Given the description of an element on the screen output the (x, y) to click on. 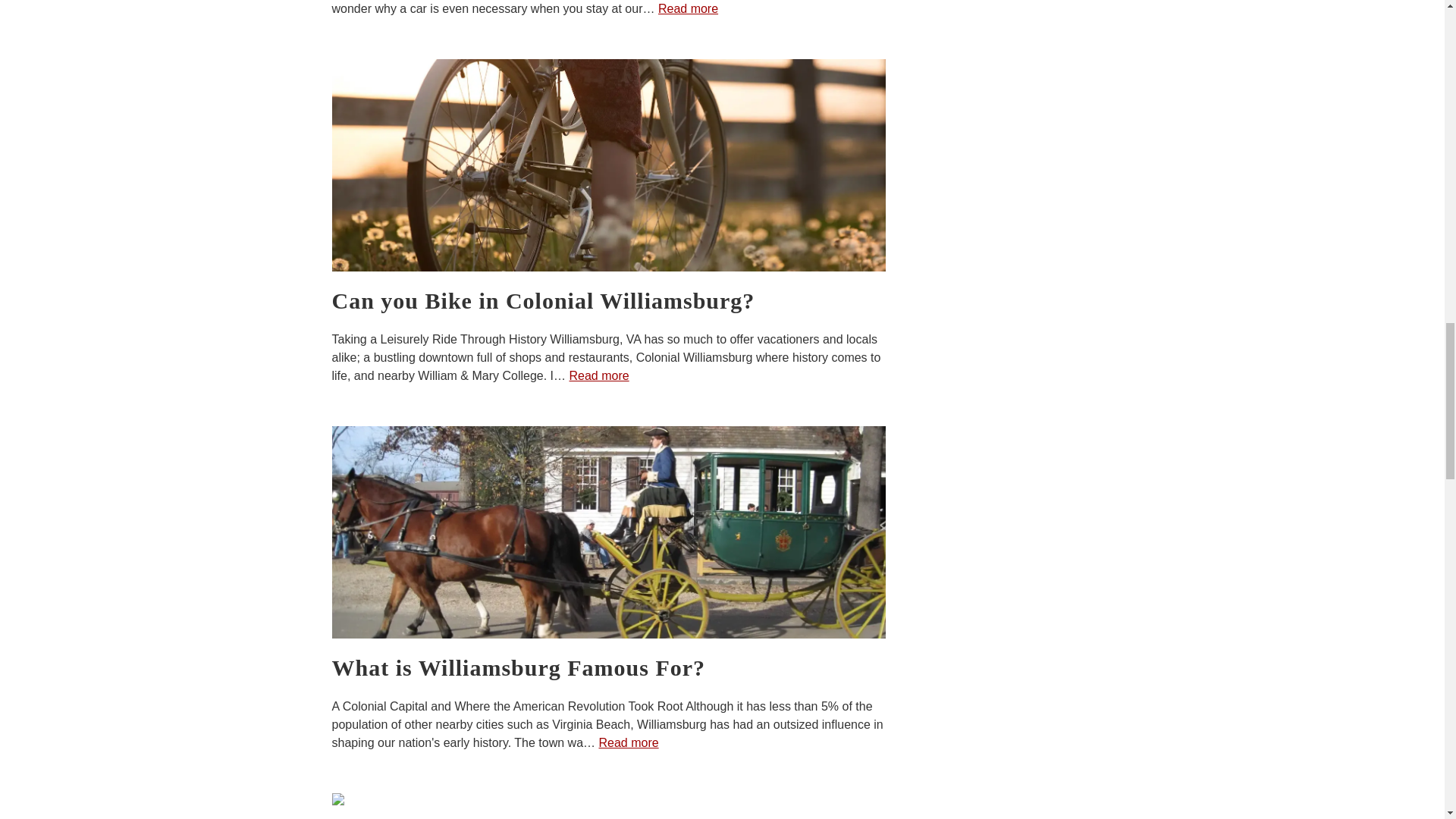
Can you Bike in Colonial Williamsburg? (608, 300)
Read more (687, 8)
historic green carriage (608, 531)
hand dipped ice cream (608, 806)
old bicycle in a meadow (608, 164)
